Given the description of an element on the screen output the (x, y) to click on. 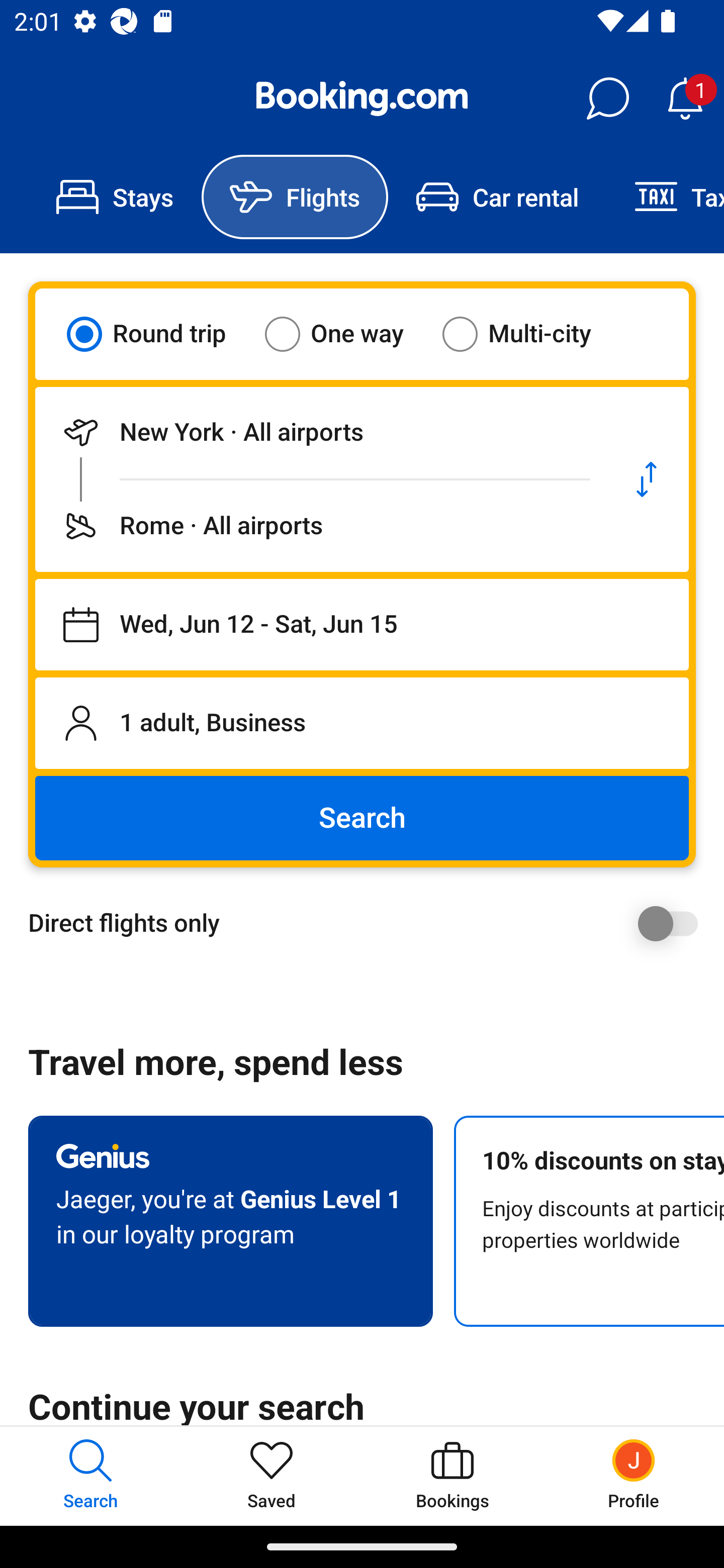
Messages (607, 98)
Notifications (685, 98)
Stays (114, 197)
Flights (294, 197)
Car rental (497, 197)
Taxi (665, 197)
One way (346, 333)
Multi-city (528, 333)
Departing from New York · All airports (319, 432)
Swap departure location and destination (646, 479)
Flying to Rome · All airports (319, 525)
Departing on Wed, Jun 12, returning on Sat, Jun 15 (361, 624)
1 adult, Business (361, 722)
Search (361, 818)
Direct flights only (369, 923)
Saved (271, 1475)
Bookings (452, 1475)
Profile (633, 1475)
